Given the description of an element on the screen output the (x, y) to click on. 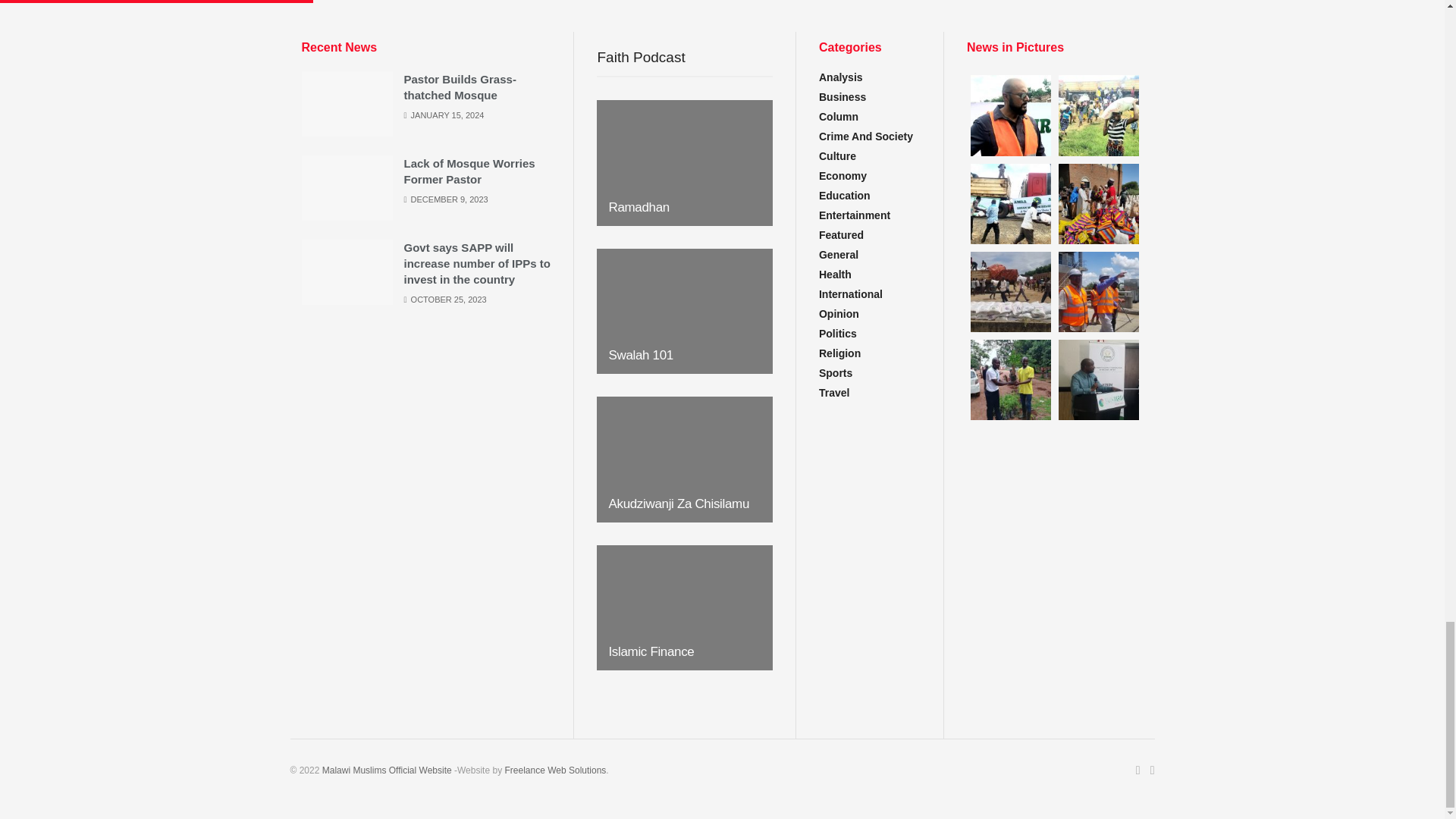
Malawi Muslims Official Website (386, 769)
Freelance Web Solutions (554, 769)
